Given the description of an element on the screen output the (x, y) to click on. 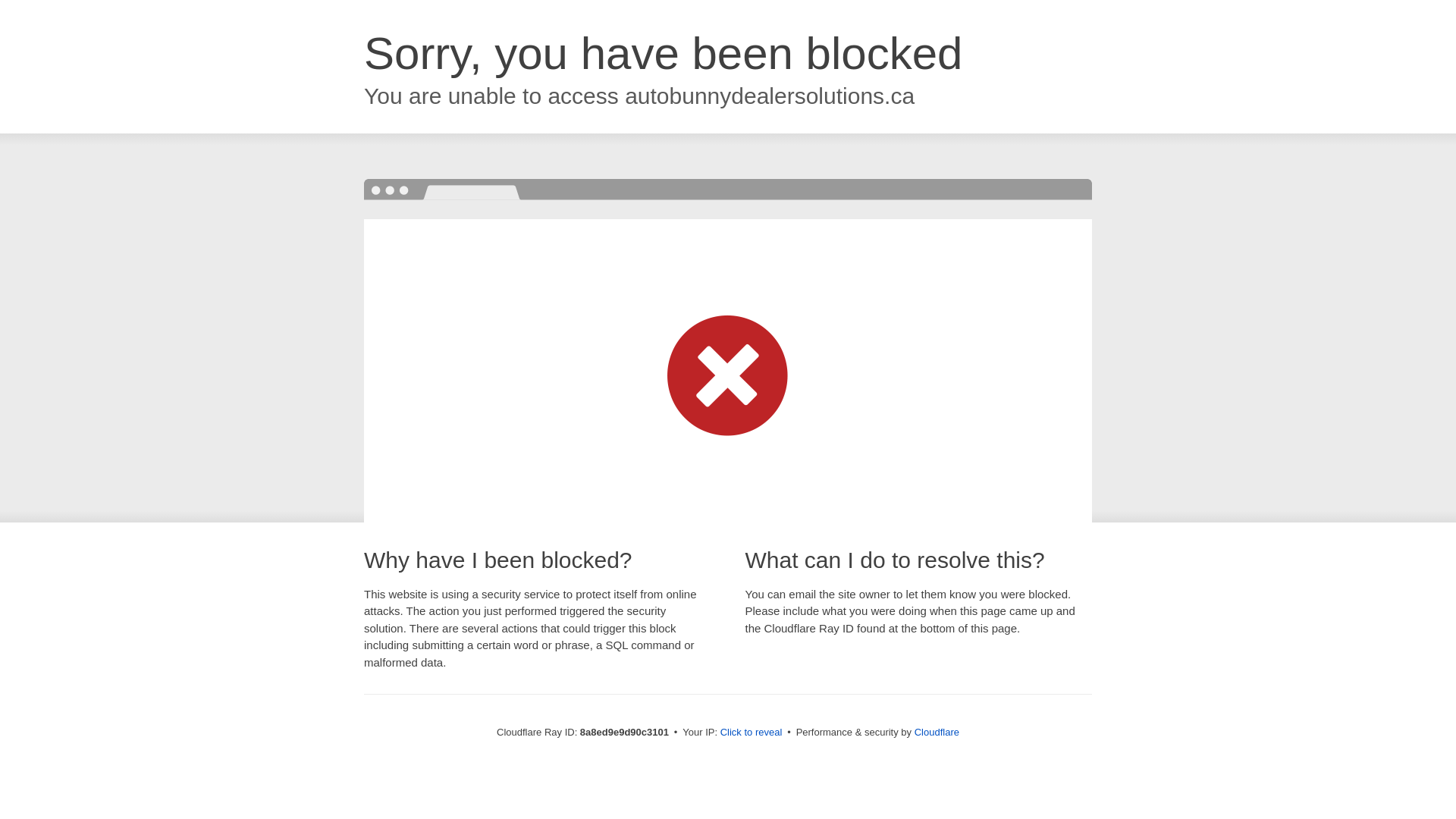
Click to reveal (751, 732)
Cloudflare (936, 731)
